Given the description of an element on the screen output the (x, y) to click on. 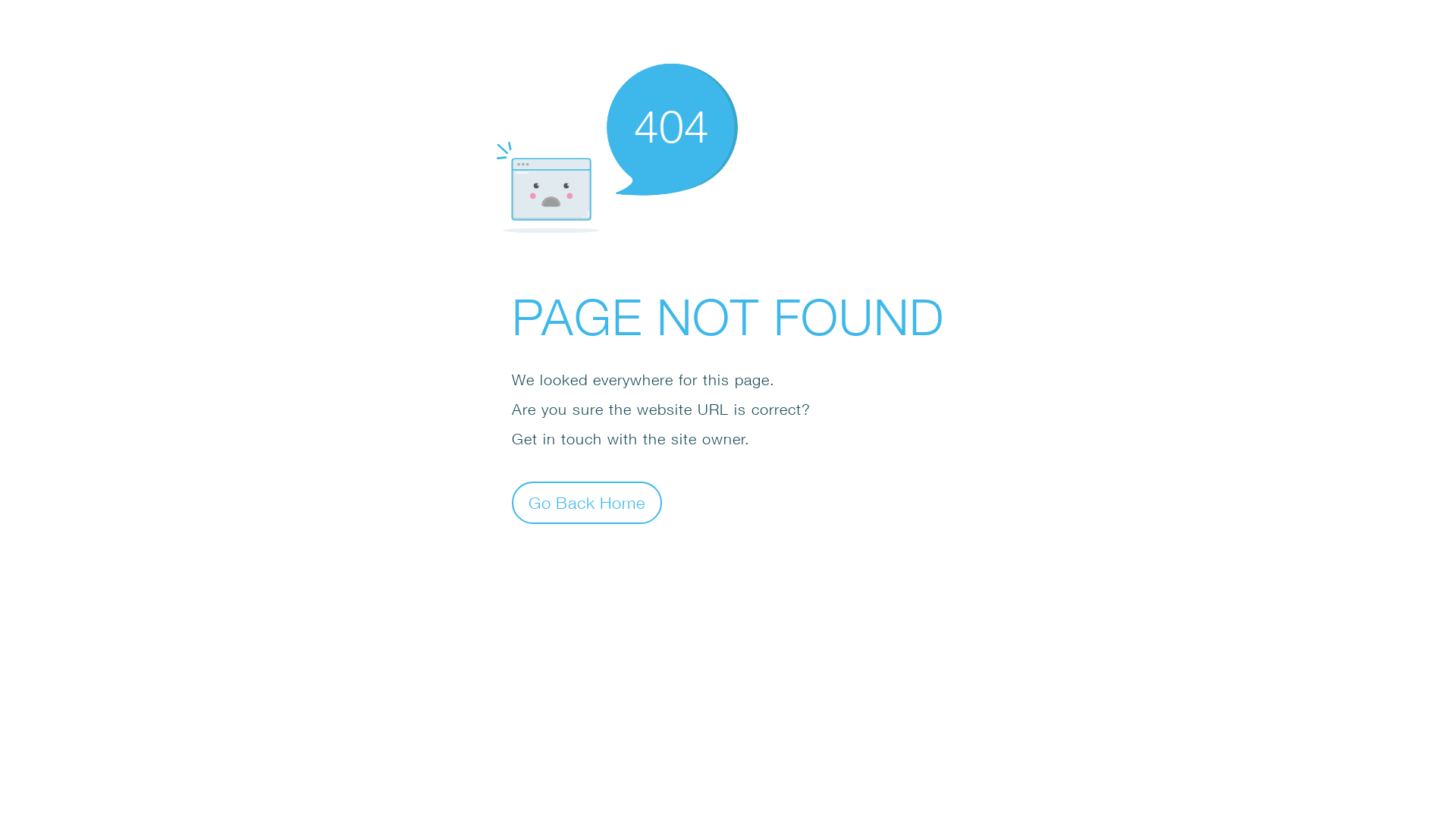
Go Back Home Element type: text (586, 502)
